Given the description of an element on the screen output the (x, y) to click on. 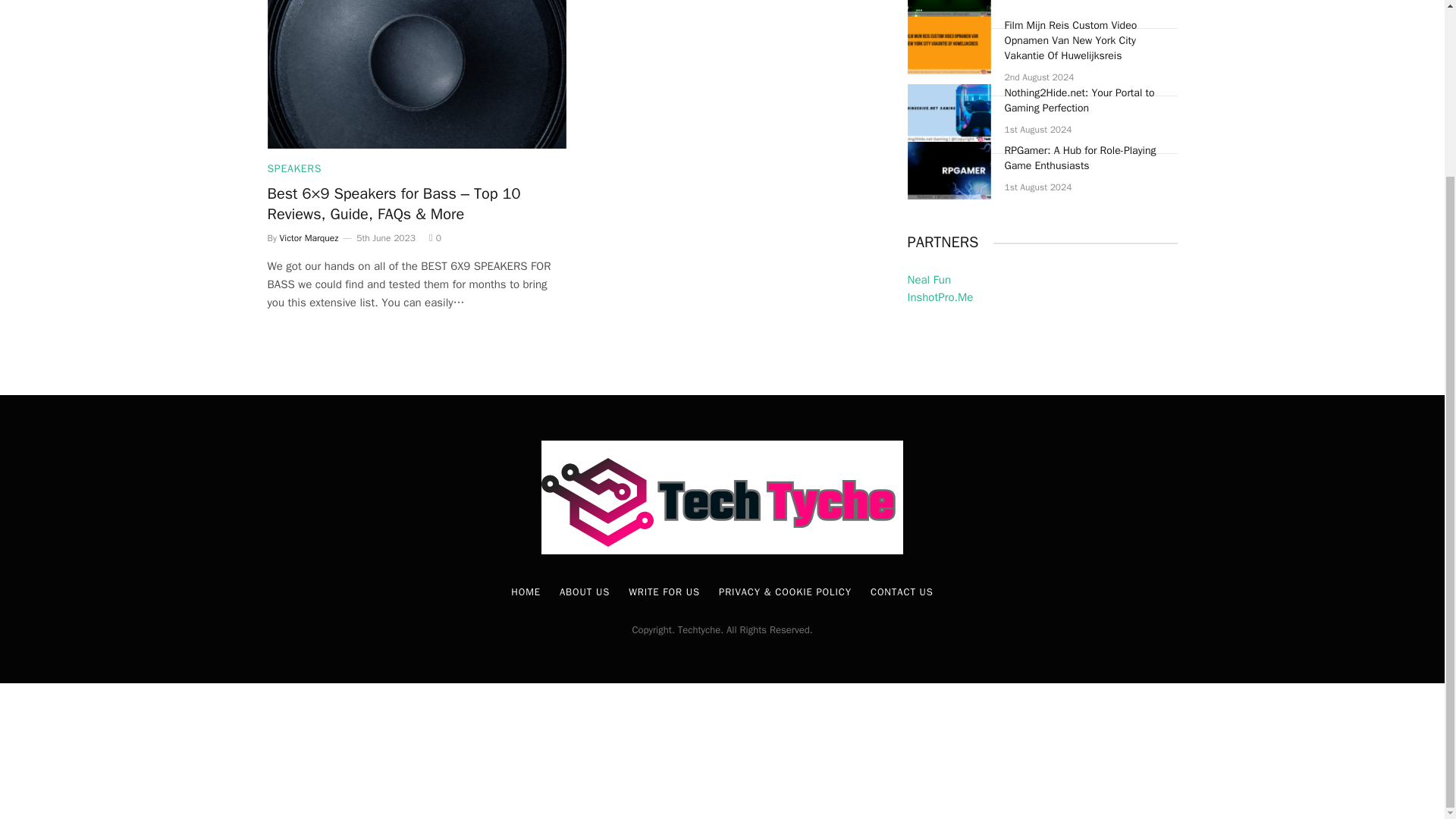
RPGamer: A Hub for Role-Playing Game Enthusiasts (948, 170)
Posts by Victor Marquez (309, 237)
Nothing2Hide.net: Your Portal to Gaming Perfection (948, 112)
What Is MyWirelessCoupons.com? (948, 8)
